Given the description of an element on the screen output the (x, y) to click on. 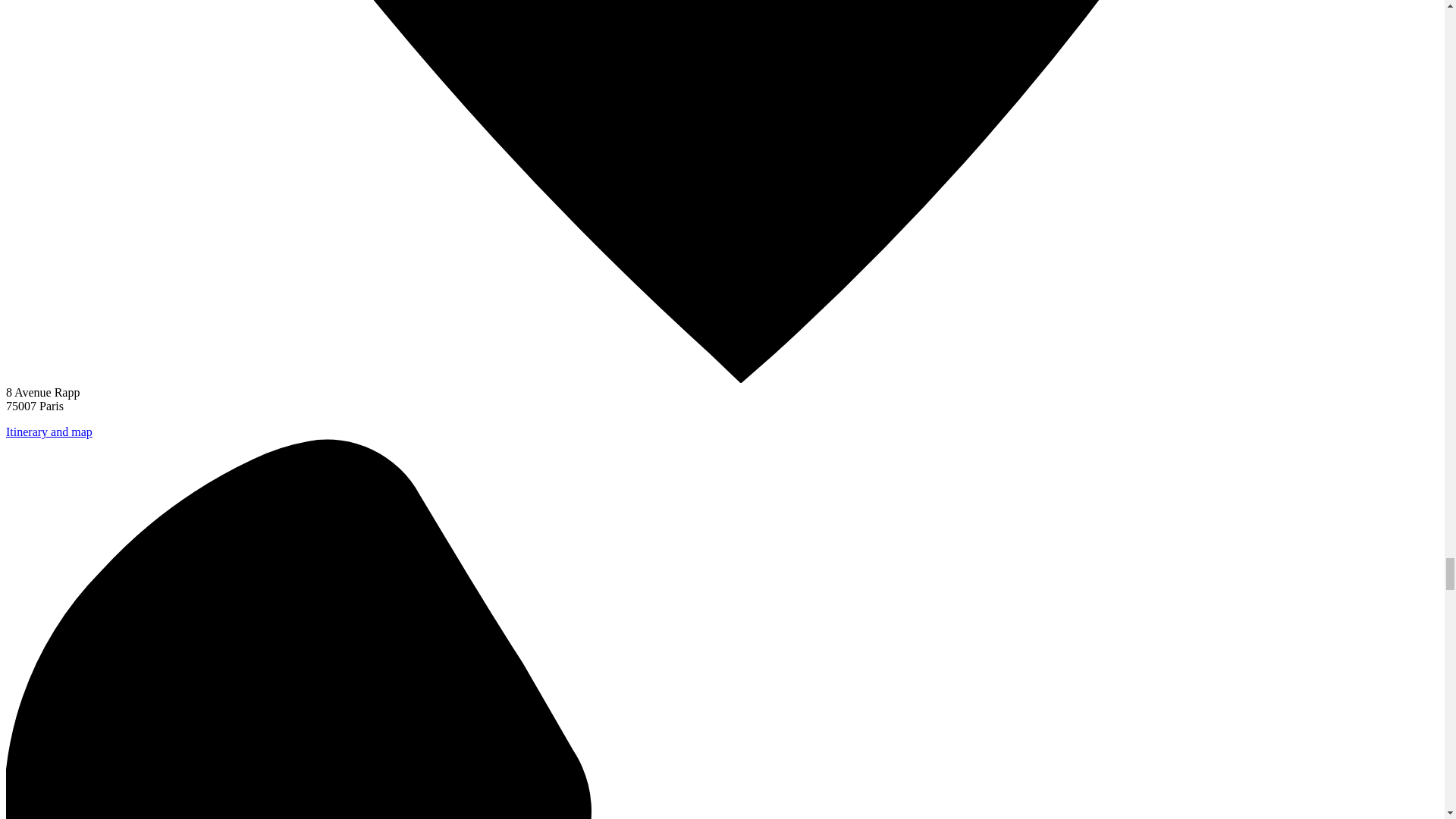
Itinerary and map (49, 431)
